Given the description of an element on the screen output the (x, y) to click on. 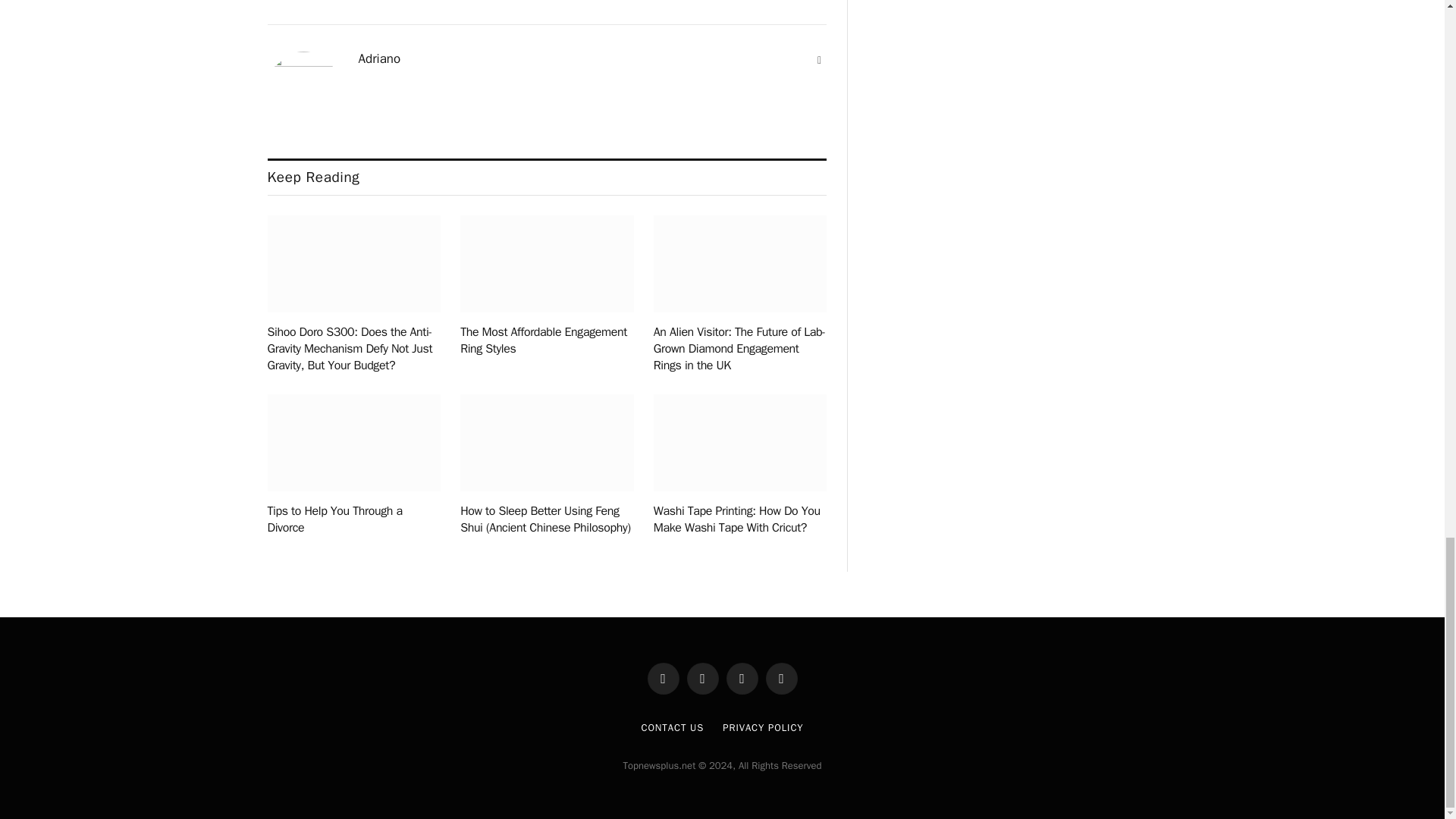
Adriano (379, 58)
The Most Affordable Engagement Ring Styles (546, 340)
Posts by Adriano (379, 58)
Website (818, 60)
